Given the description of an element on the screen output the (x, y) to click on. 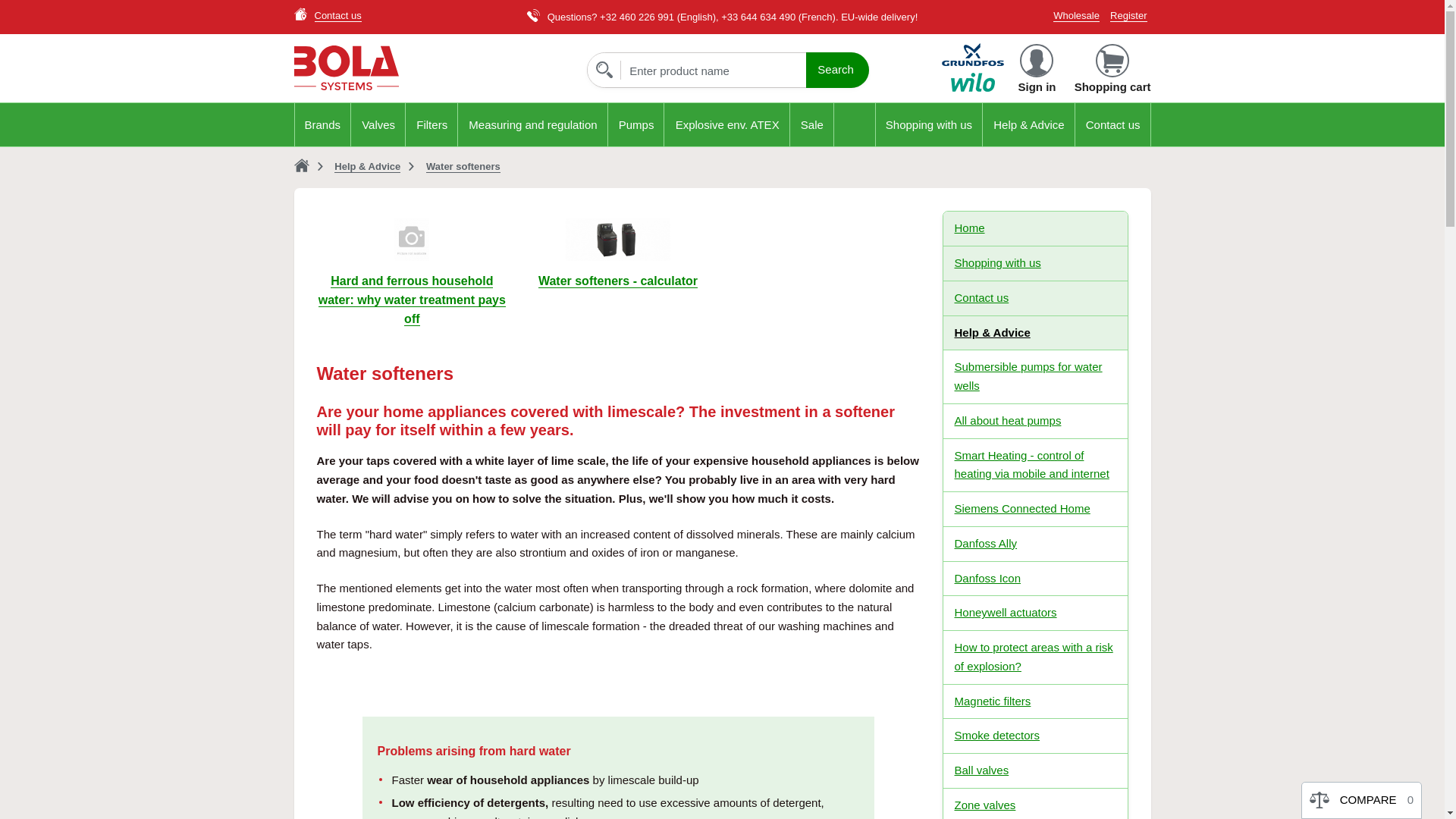
Contact us (337, 15)
Search (837, 69)
Bola.cz (428, 68)
Wholesale (1075, 15)
Register (1128, 15)
Search (837, 69)
Brands (323, 124)
Shopping cart (1112, 70)
